Given the description of an element on the screen output the (x, y) to click on. 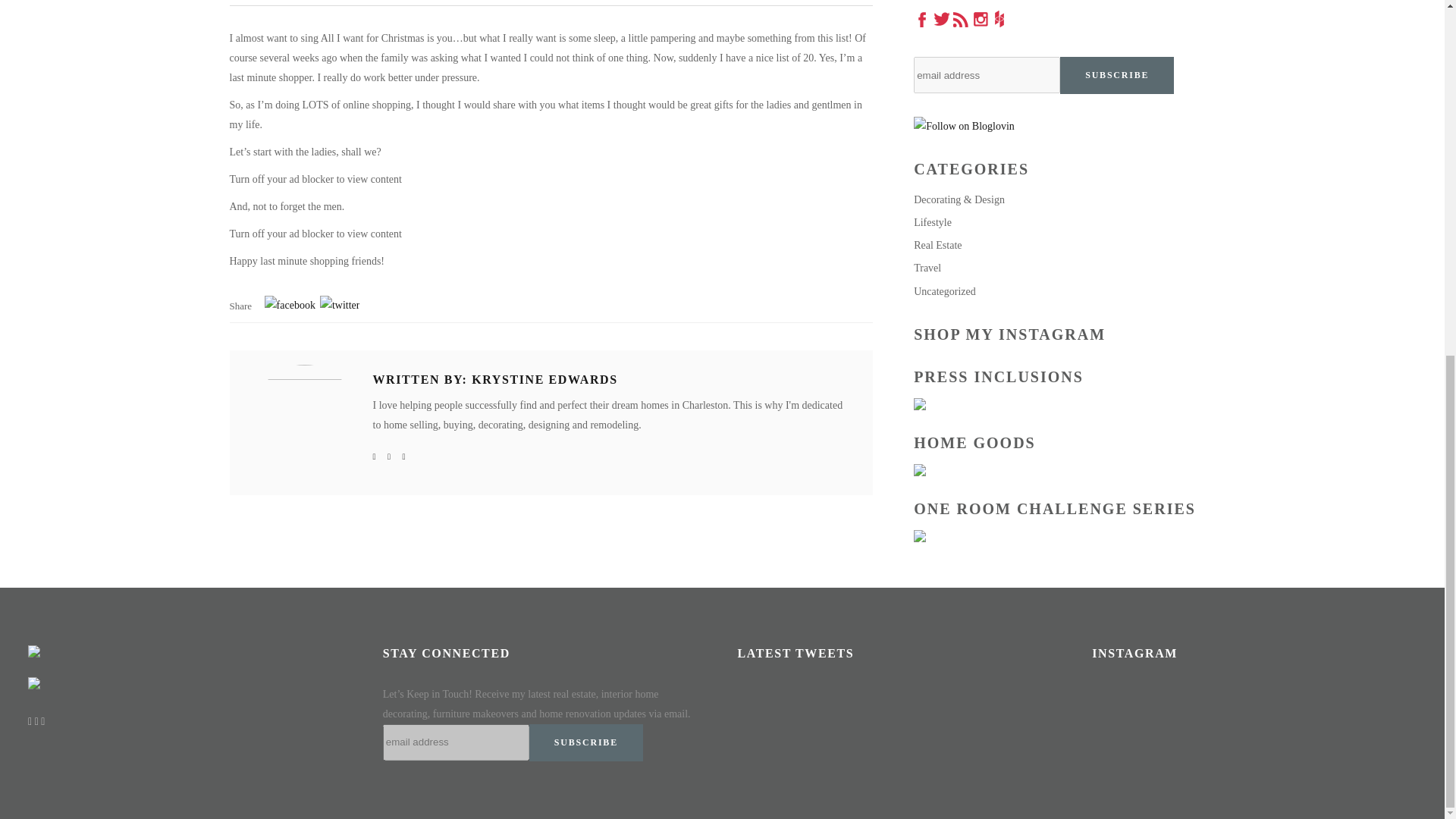
WRITTEN BY: KRYSTINE EDWARDS (494, 379)
Subscribe (1116, 75)
Subscribe (586, 742)
Subscribe (1116, 75)
